Given the description of an element on the screen output the (x, y) to click on. 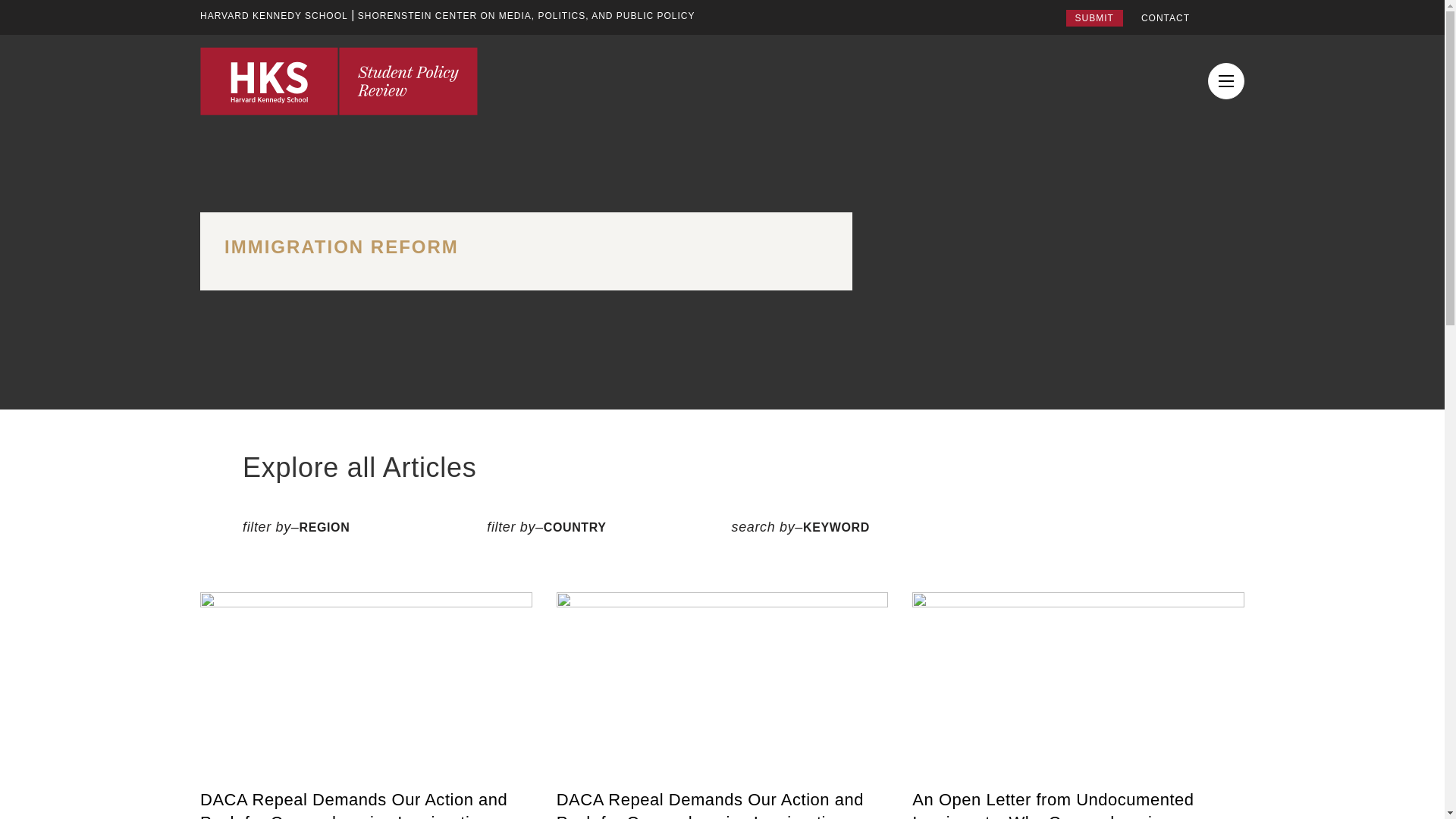
HKS Student Policy Review (338, 80)
CONTACT (1165, 18)
SUBMIT (1093, 17)
SHORENSTEIN CENTER ON MEDIA, POLITICS, AND PUBLIC POLICY (526, 15)
HARVARD KENNEDY SCHOOL (273, 15)
Shorenstein Center on Media, Politics, and Public Policy (526, 15)
